Given the description of an element on the screen output the (x, y) to click on. 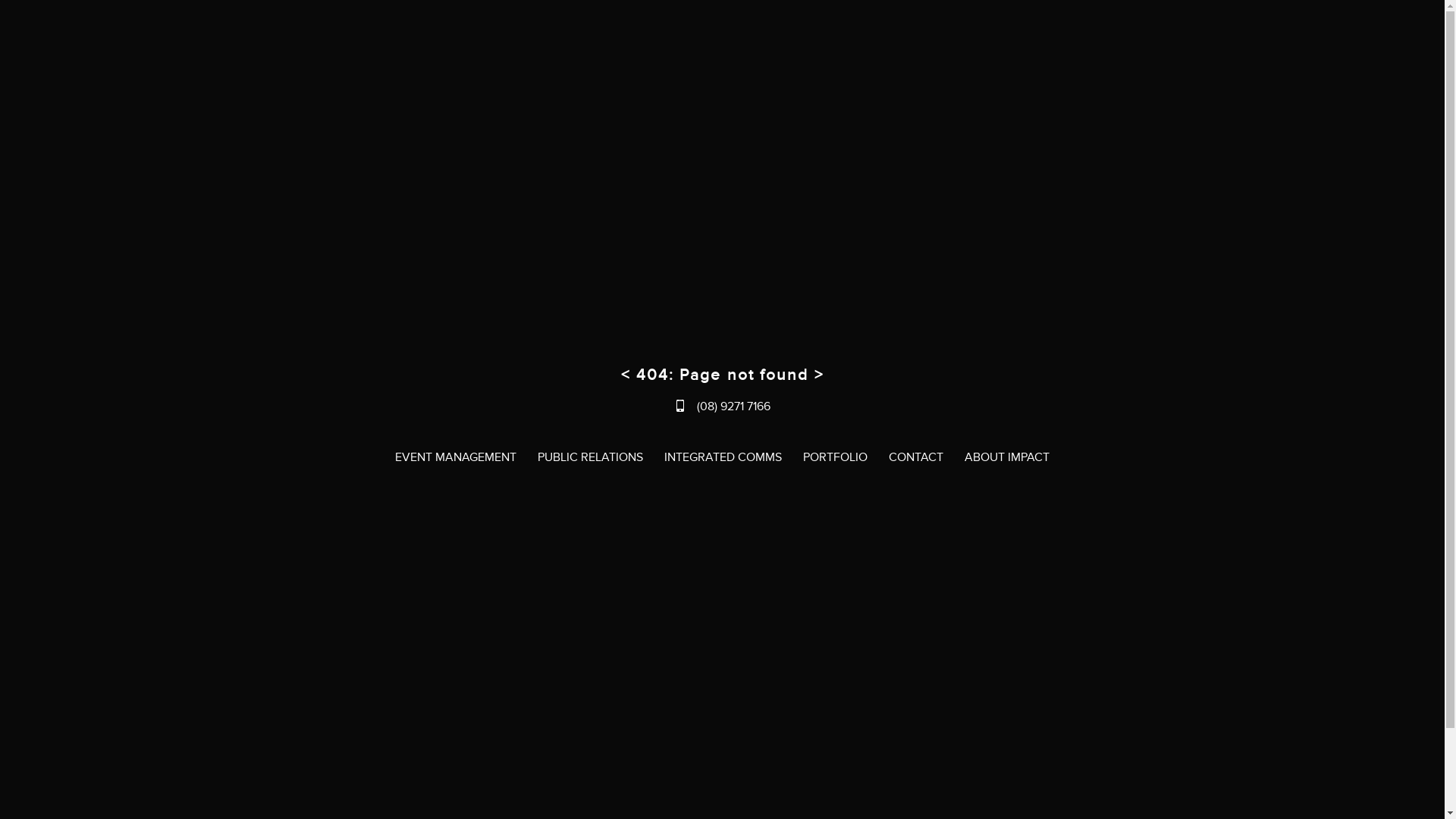
(08) 9271 7166 Element type: text (722, 406)
ABOUT IMPACT Element type: text (1006, 457)
EVENT MANAGEMENT Element type: text (455, 457)
PORTFOLIO Element type: text (835, 457)
CONTACT Element type: text (915, 457)
INTEGRATED COMMS Element type: text (722, 457)
PUBLIC RELATIONS Element type: text (590, 457)
